Given the description of an element on the screen output the (x, y) to click on. 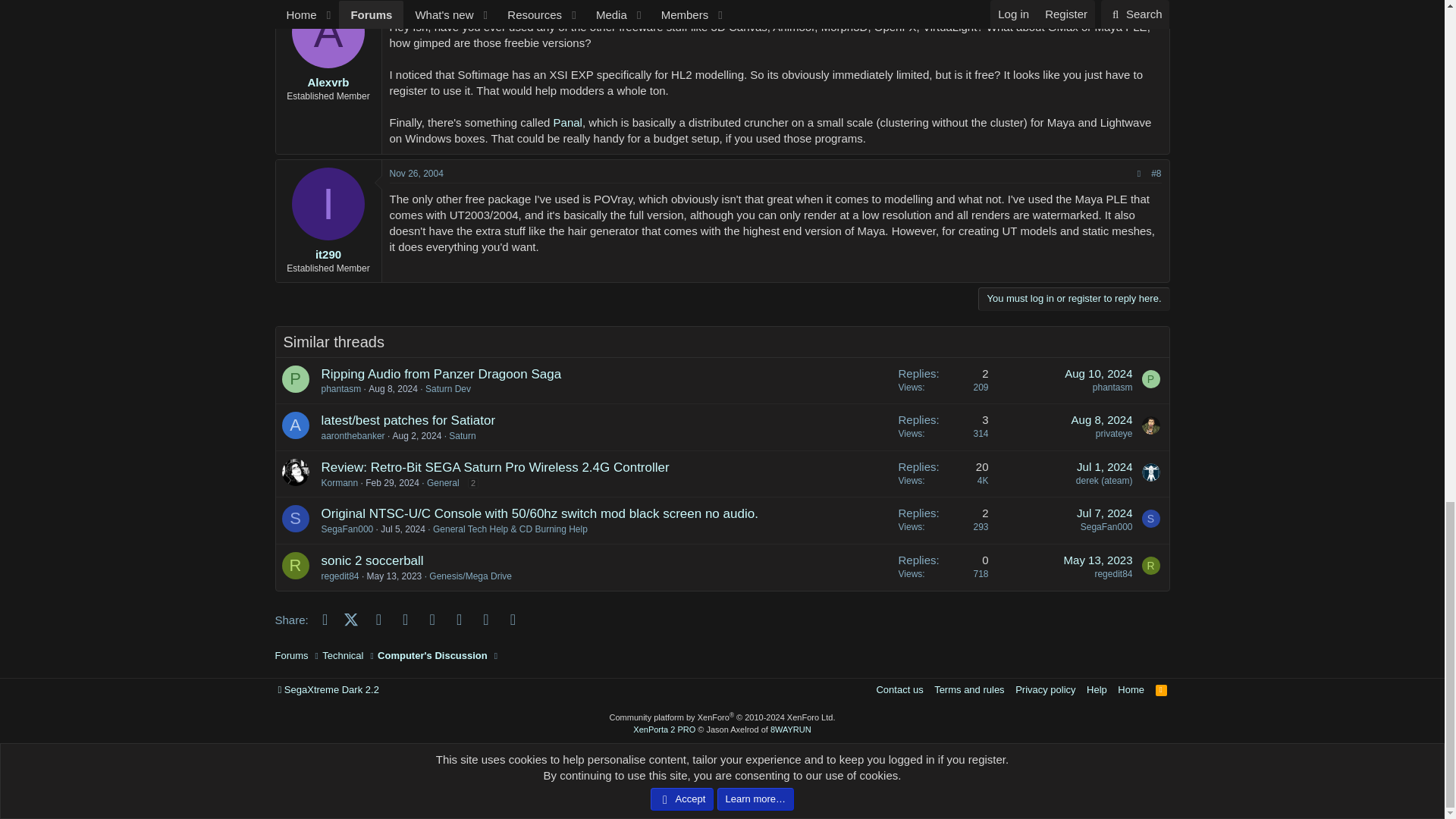
Aug 10, 2024 at 8:02 PM (1098, 373)
Aug 8, 2024 at 10:48 PM (392, 388)
Aug 8, 2024 at 11:11 AM (1101, 419)
Nov 26, 2004 at 5:59 PM (417, 173)
Nov 26, 2004 at 11:32 AM (417, 3)
First message reaction score: 0 (942, 427)
Aug 2, 2024 at 3:54 PM (417, 435)
First message reaction score: 0 (942, 380)
